Given the description of an element on the screen output the (x, y) to click on. 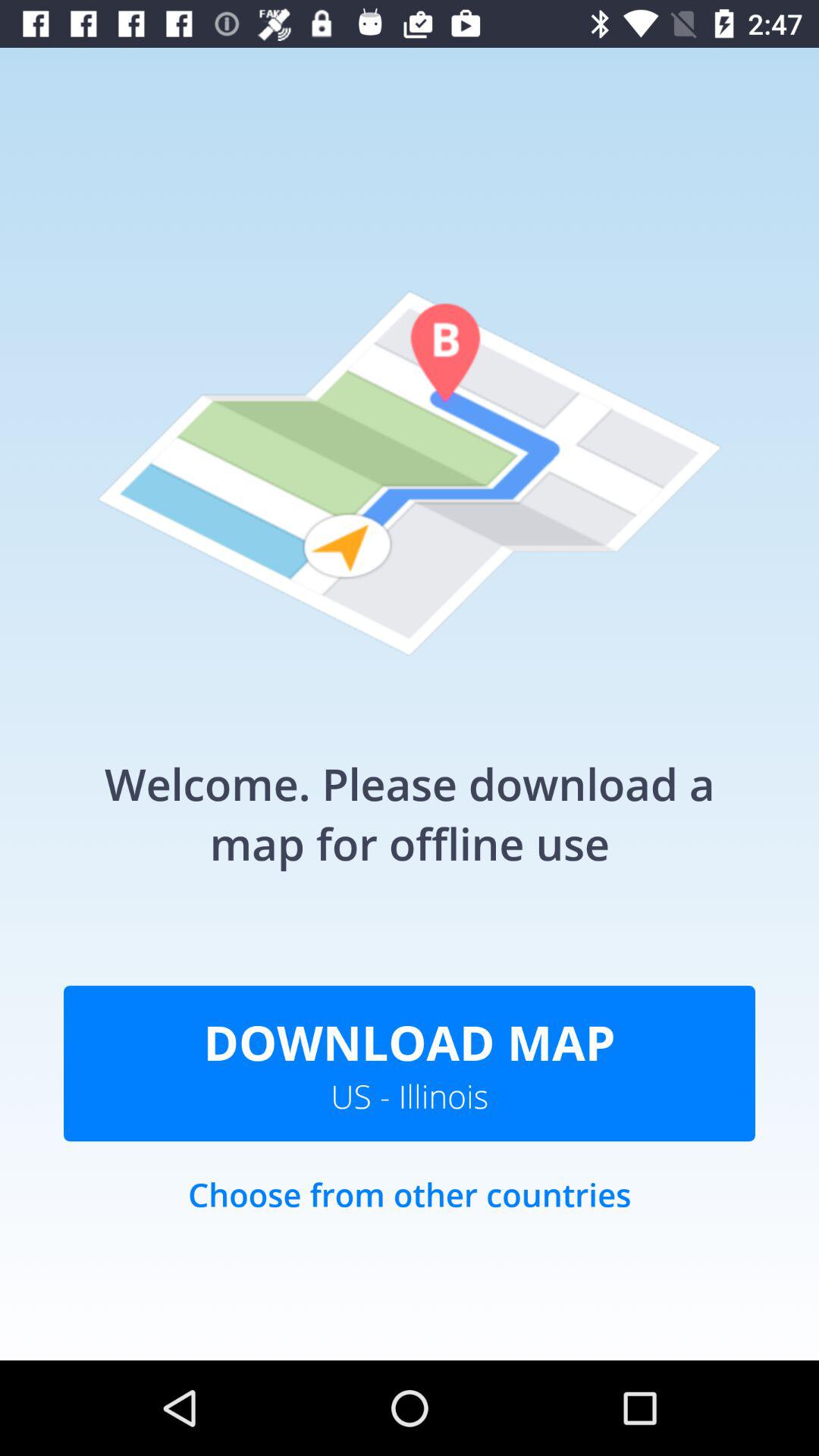
open choose from other (409, 1210)
